Given the description of an element on the screen output the (x, y) to click on. 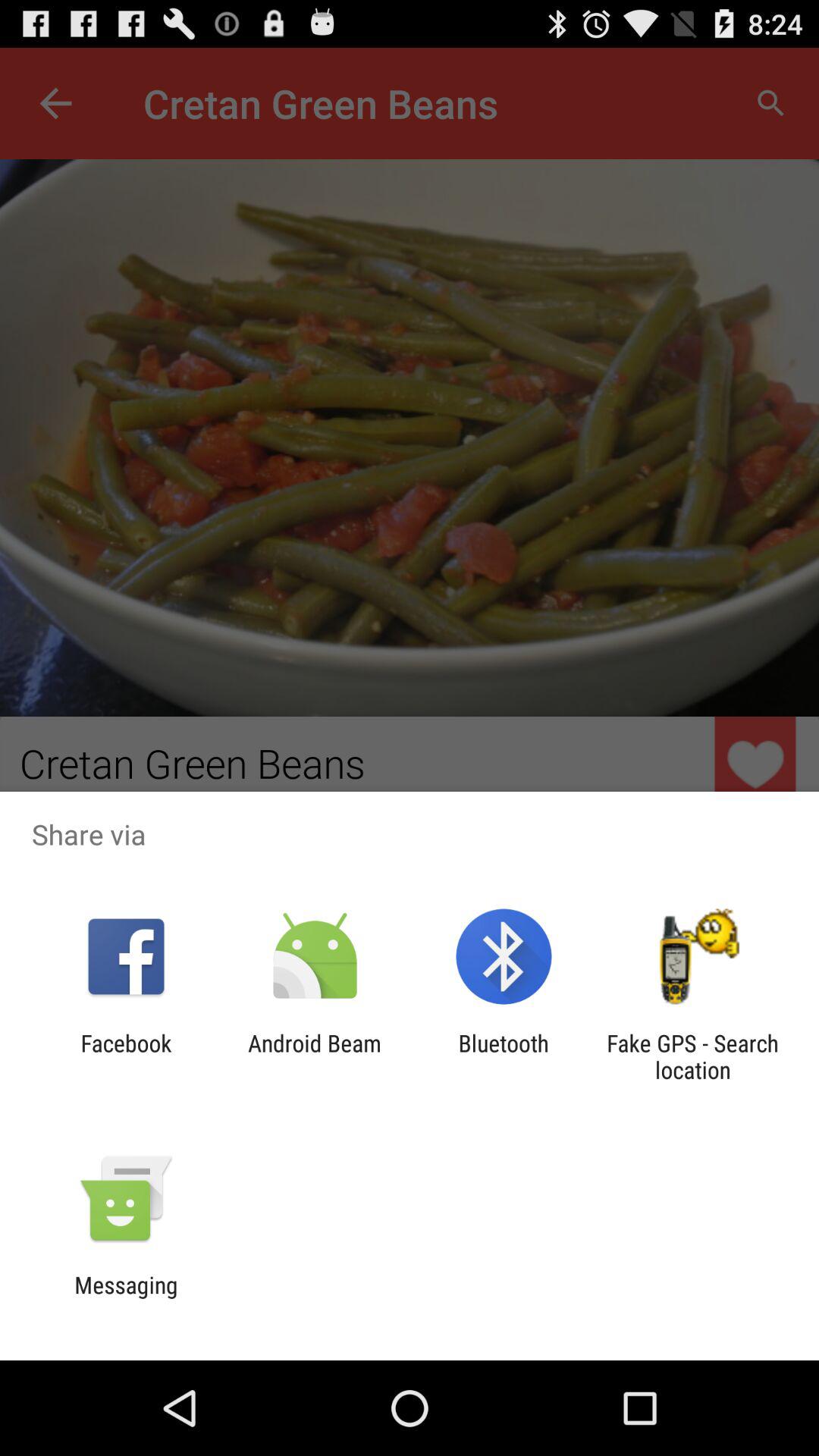
jump until the fake gps search icon (692, 1056)
